Given the description of an element on the screen output the (x, y) to click on. 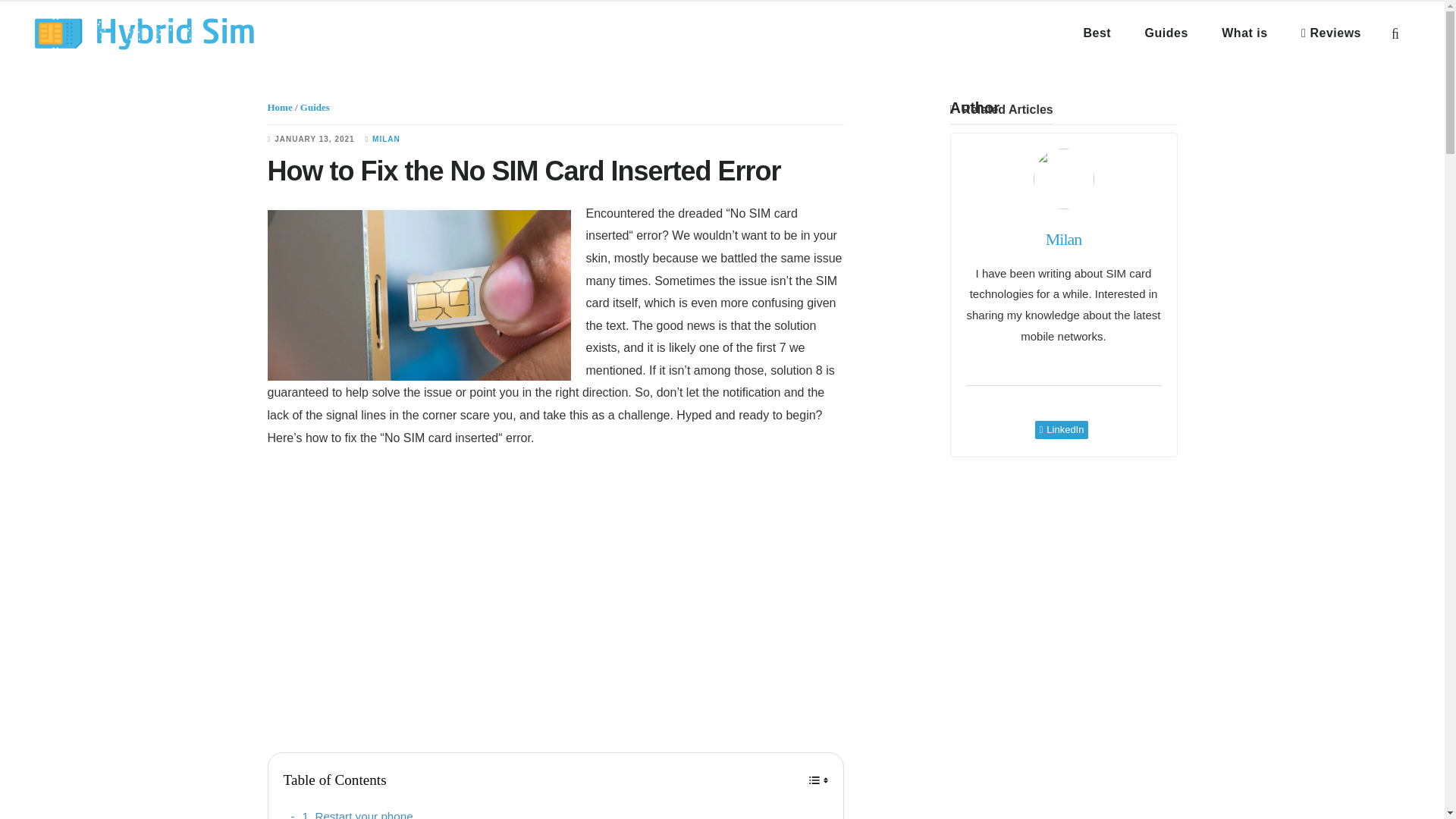
LinkedIn (1062, 429)
Reviews (1331, 32)
1. Restart your phone (352, 813)
MILAN (386, 139)
Guides (314, 107)
HYBRID SIM (143, 32)
